Given the description of an element on the screen output the (x, y) to click on. 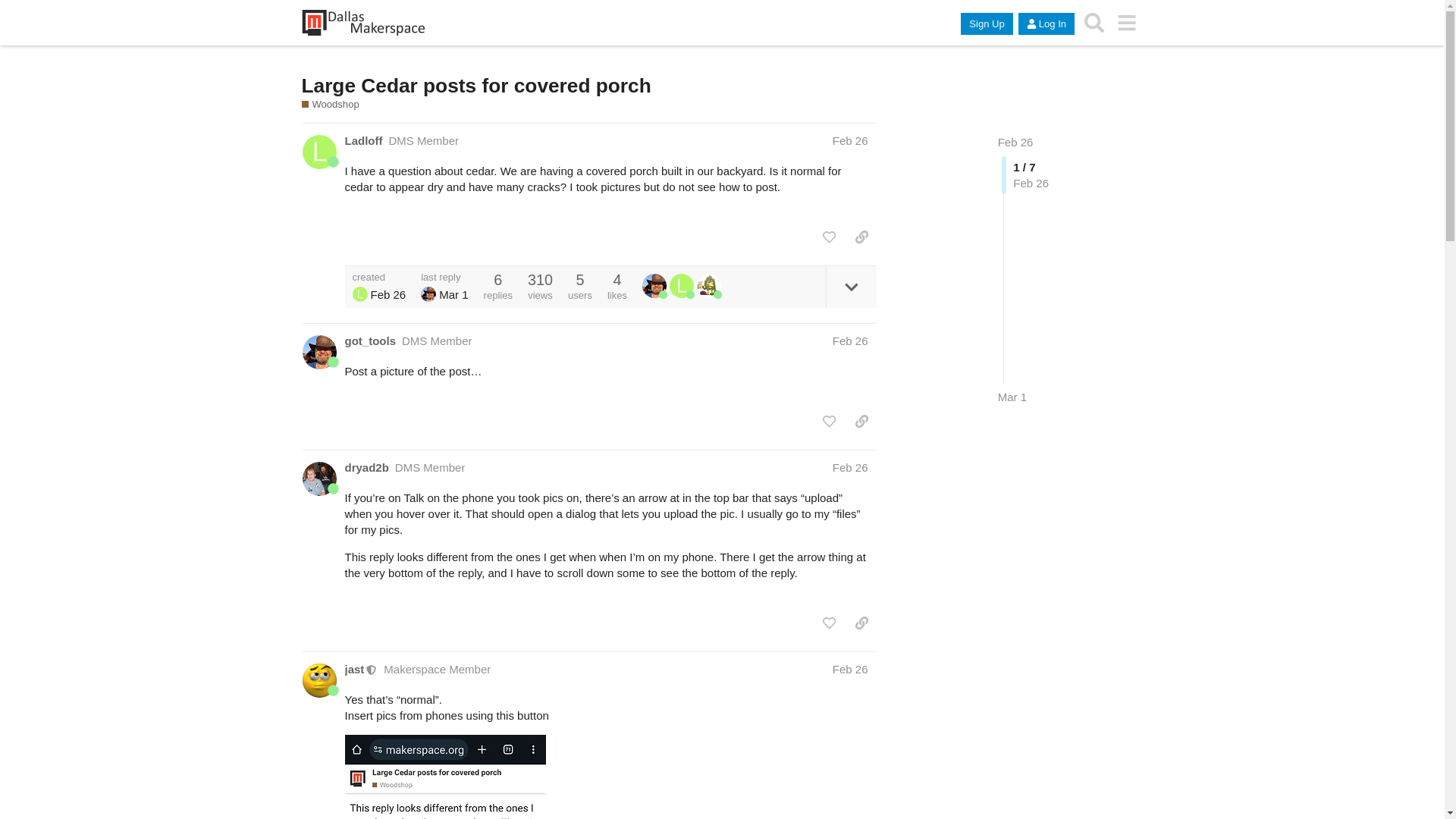
last reply (443, 276)
HB Smart II (427, 294)
Mar 1, 2024 5:30 am (453, 294)
Woodshop (330, 104)
Feb 26 (849, 340)
Feb 26, 2024 8:02 am (849, 140)
Ladloff (362, 140)
like this post (829, 237)
Feb 26 (849, 140)
expand topic details (850, 286)
Log In (1045, 24)
Leslie Adloff (359, 294)
Large Cedar posts for covered porch (475, 85)
share a link to this post (861, 237)
